Given the description of an element on the screen output the (x, y) to click on. 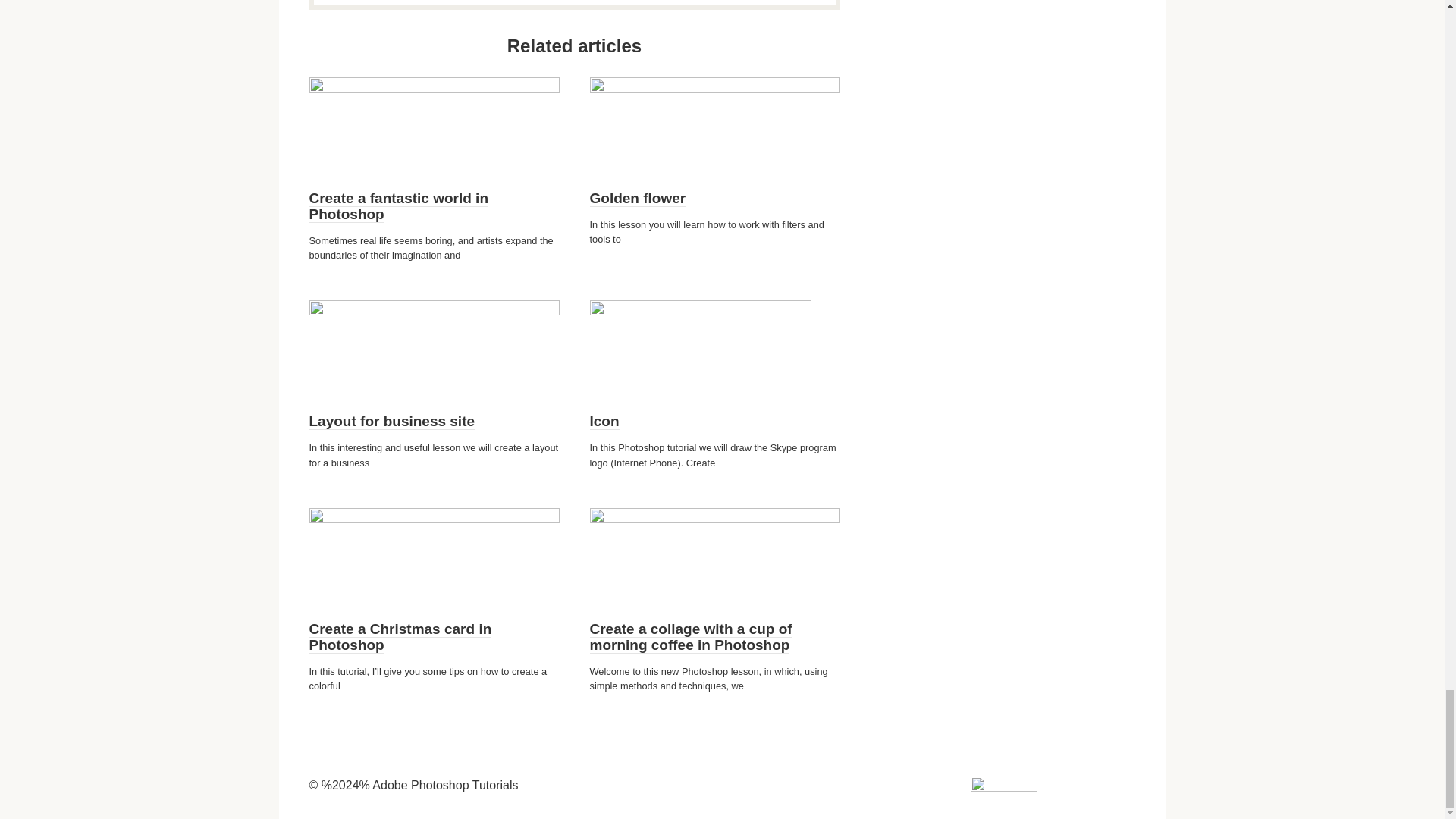
Golden flower (637, 198)
Create a collage with a cup of morning coffee in Photoshop (690, 636)
Create a Christmas card in Photoshop (400, 636)
Create a fantastic world in Photoshop (398, 206)
Layout for business site (392, 421)
Icon (604, 421)
